Given the description of an element on the screen output the (x, y) to click on. 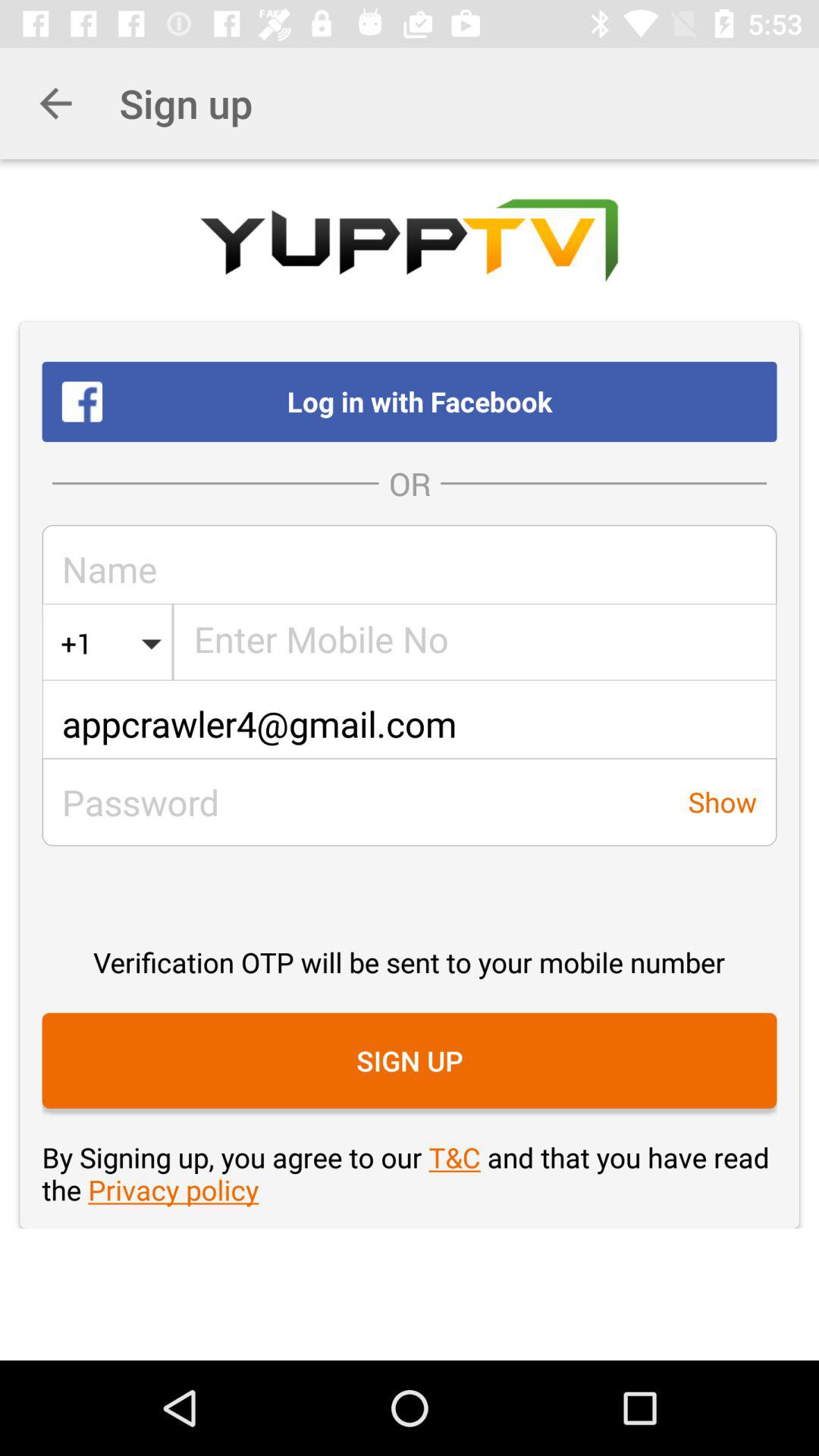
click icon above the verification otp will icon (409, 723)
